Given the description of an element on the screen output the (x, y) to click on. 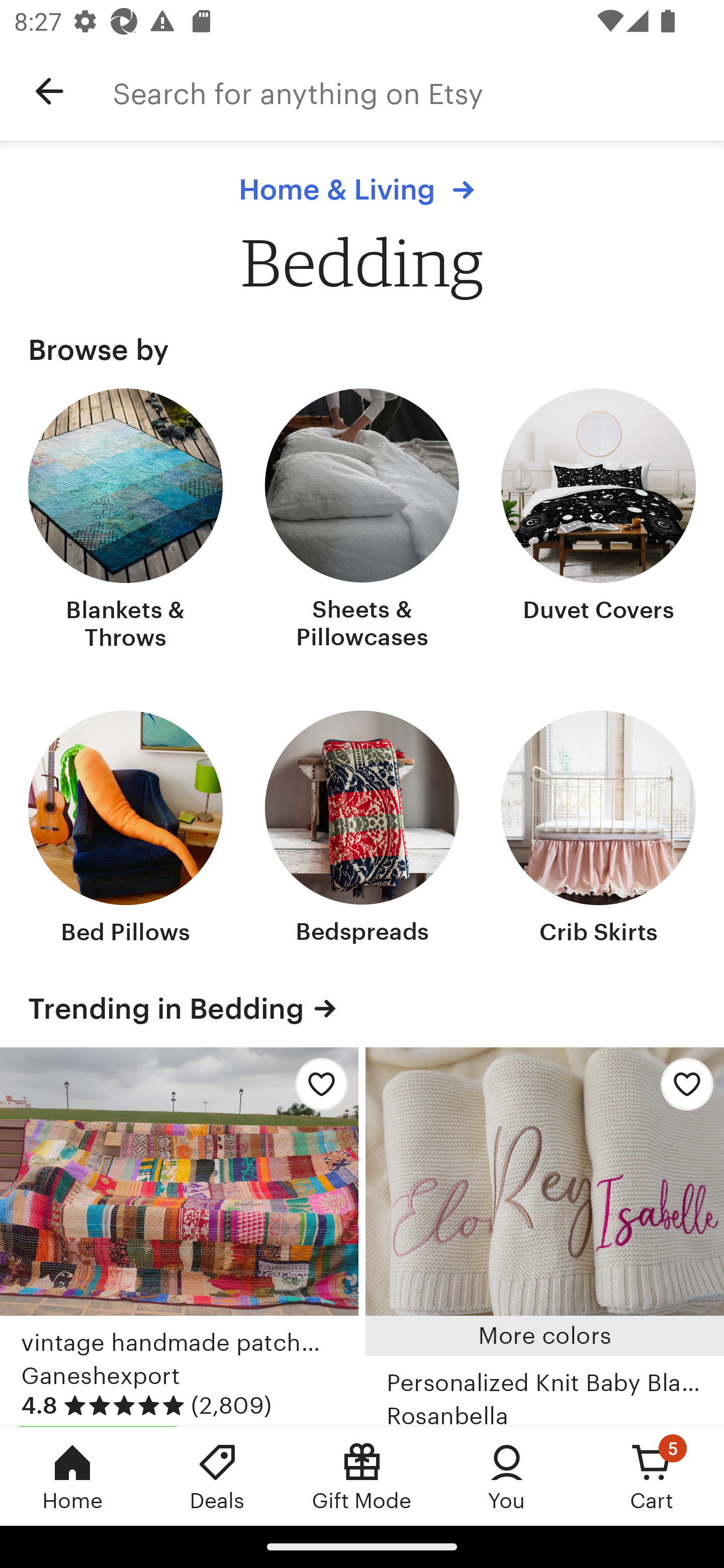
Navigate up (49, 91)
Search for anything on Etsy (418, 91)
Home & Living (361, 189)
Blankets & Throws (125, 520)
Sheets & Pillowcases (361, 520)
Duvet Covers (598, 520)
Bed Pillows (125, 829)
Bedspreads (361, 829)
Crib Skirts (598, 829)
Trending in Bedding  (361, 1008)
Add vintage handmade patchwork quilt to favorites (315, 1089)
Deals (216, 1475)
Gift Mode (361, 1475)
You (506, 1475)
Cart, 5 new notifications Cart (651, 1475)
